Given the description of an element on the screen output the (x, y) to click on. 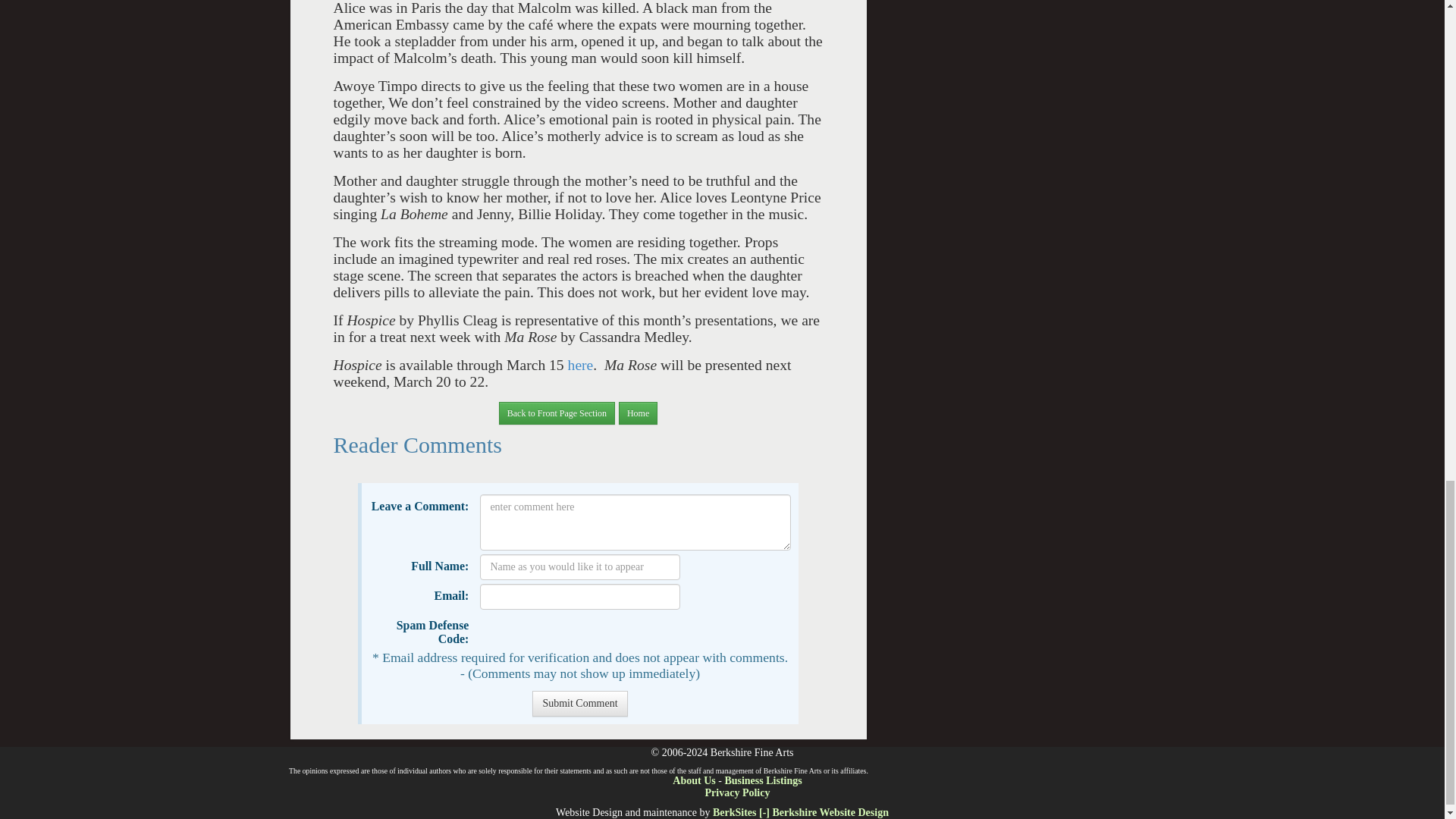
Submit Comment (579, 703)
